Given the description of an element on the screen output the (x, y) to click on. 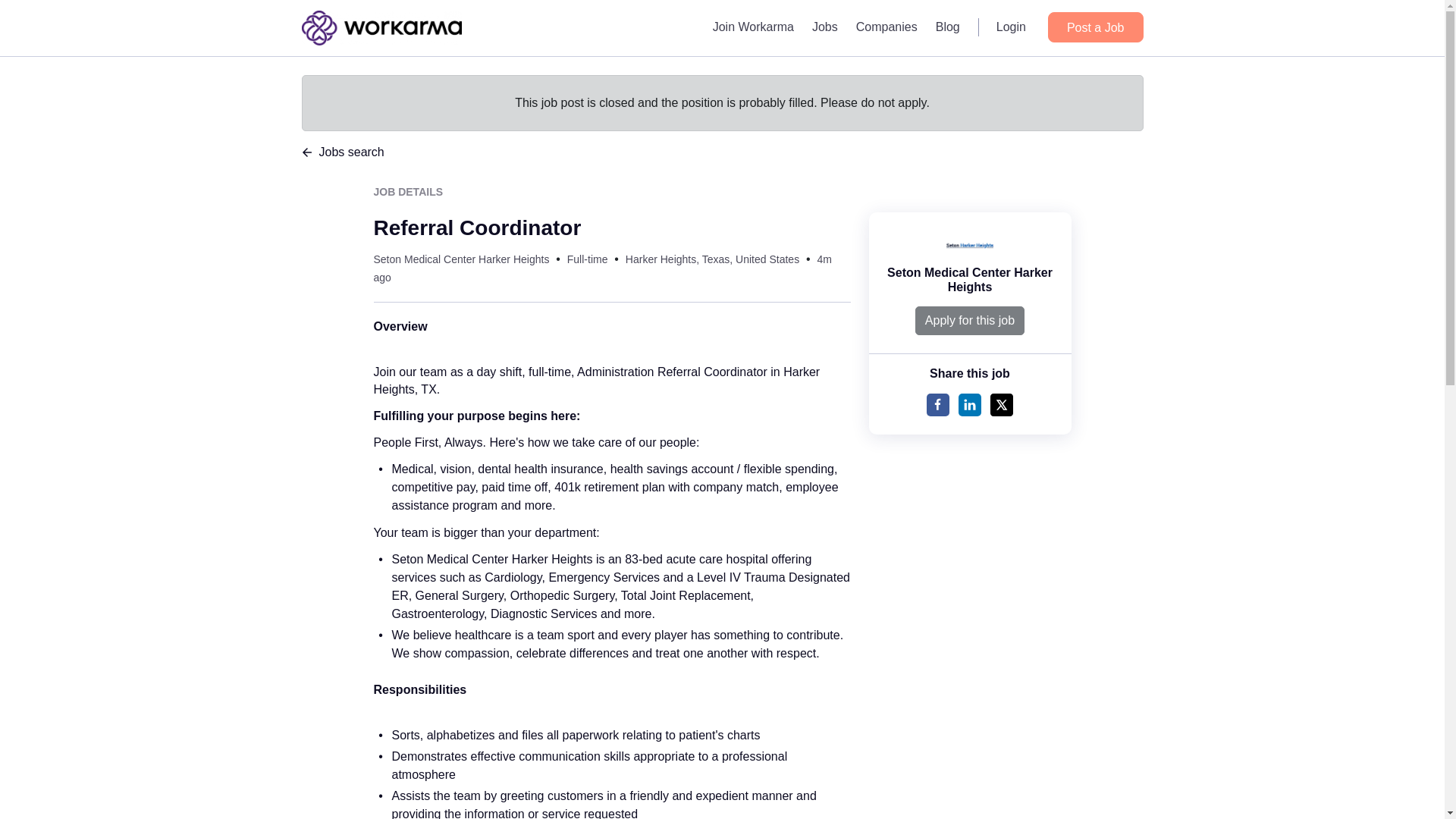
Seton Medical Center Harker Heights (969, 279)
Seton Medical Center Harker Heights (460, 259)
Share to Linkedin (969, 404)
Blog (947, 26)
Login (1011, 26)
Apply for this job (970, 320)
Join Workarma (753, 26)
Jobs search (721, 152)
Share to FB (937, 404)
Jobs (825, 26)
Full-time (587, 259)
Companies (886, 26)
Post a Job (1095, 27)
Harker Heights, Texas, United States (712, 259)
Share to Twitter (1001, 404)
